Given the description of an element on the screen output the (x, y) to click on. 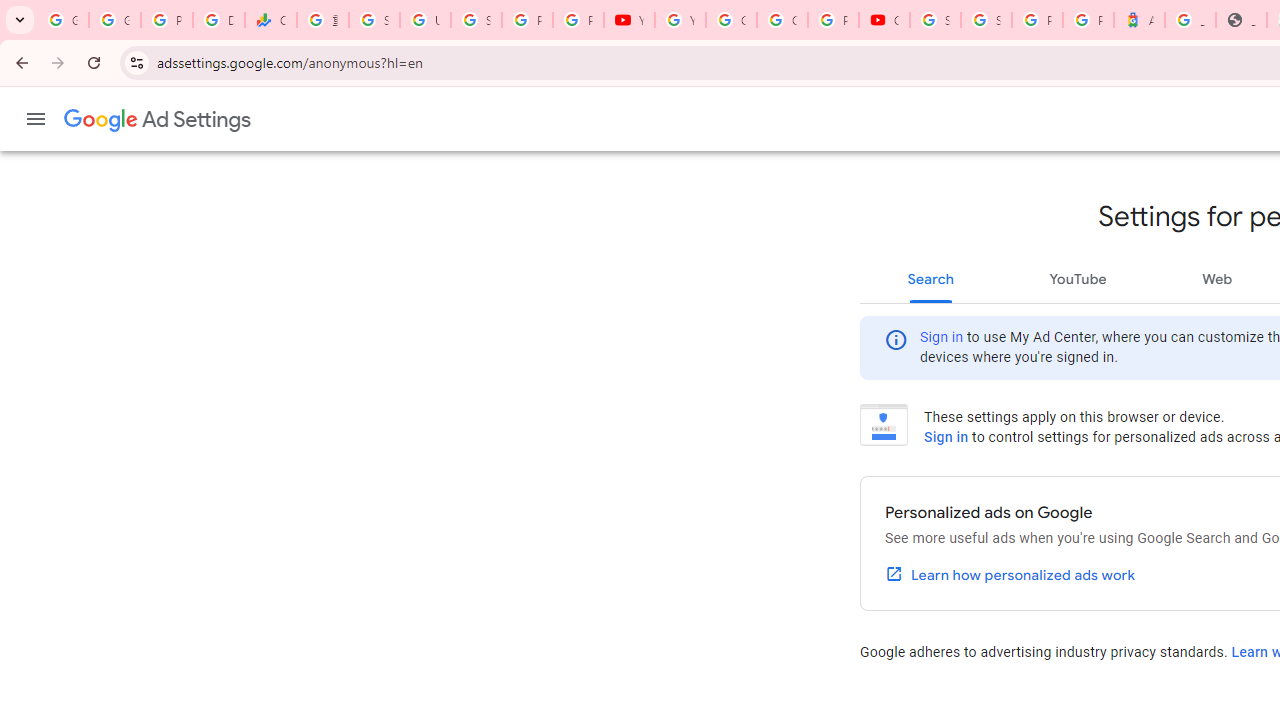
Content Creator Programs & Opportunities - YouTube Creators (884, 20)
Ad Settings (158, 120)
Currencies - Google Finance (270, 20)
YouTube (629, 20)
Sign in - Google Accounts (374, 20)
Web (1217, 278)
Search (931, 278)
